Given the description of an element on the screen output the (x, y) to click on. 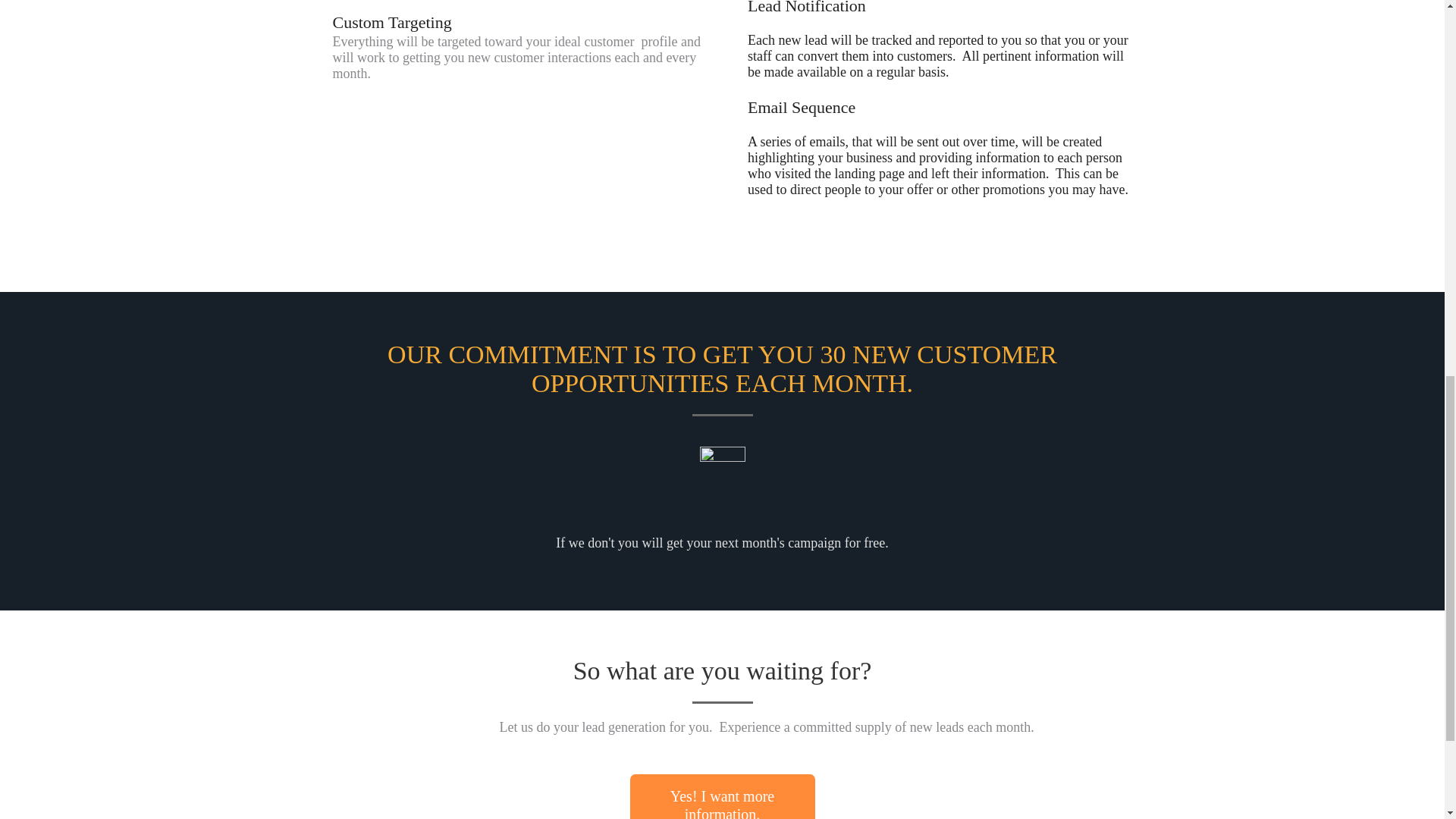
Yes! I want more information. (720, 796)
